Given the description of an element on the screen output the (x, y) to click on. 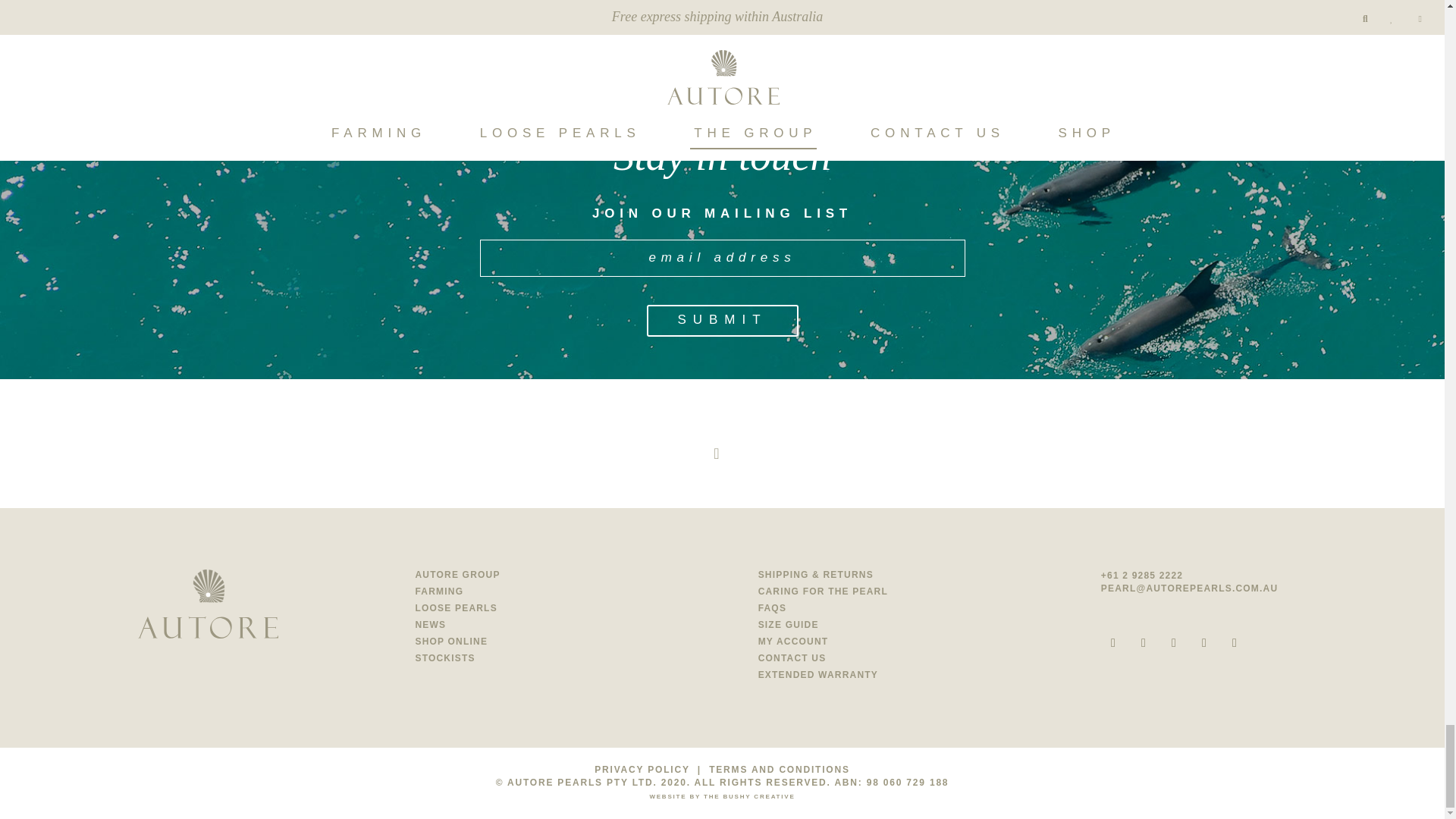
Submit (721, 320)
